Given the description of an element on the screen output the (x, y) to click on. 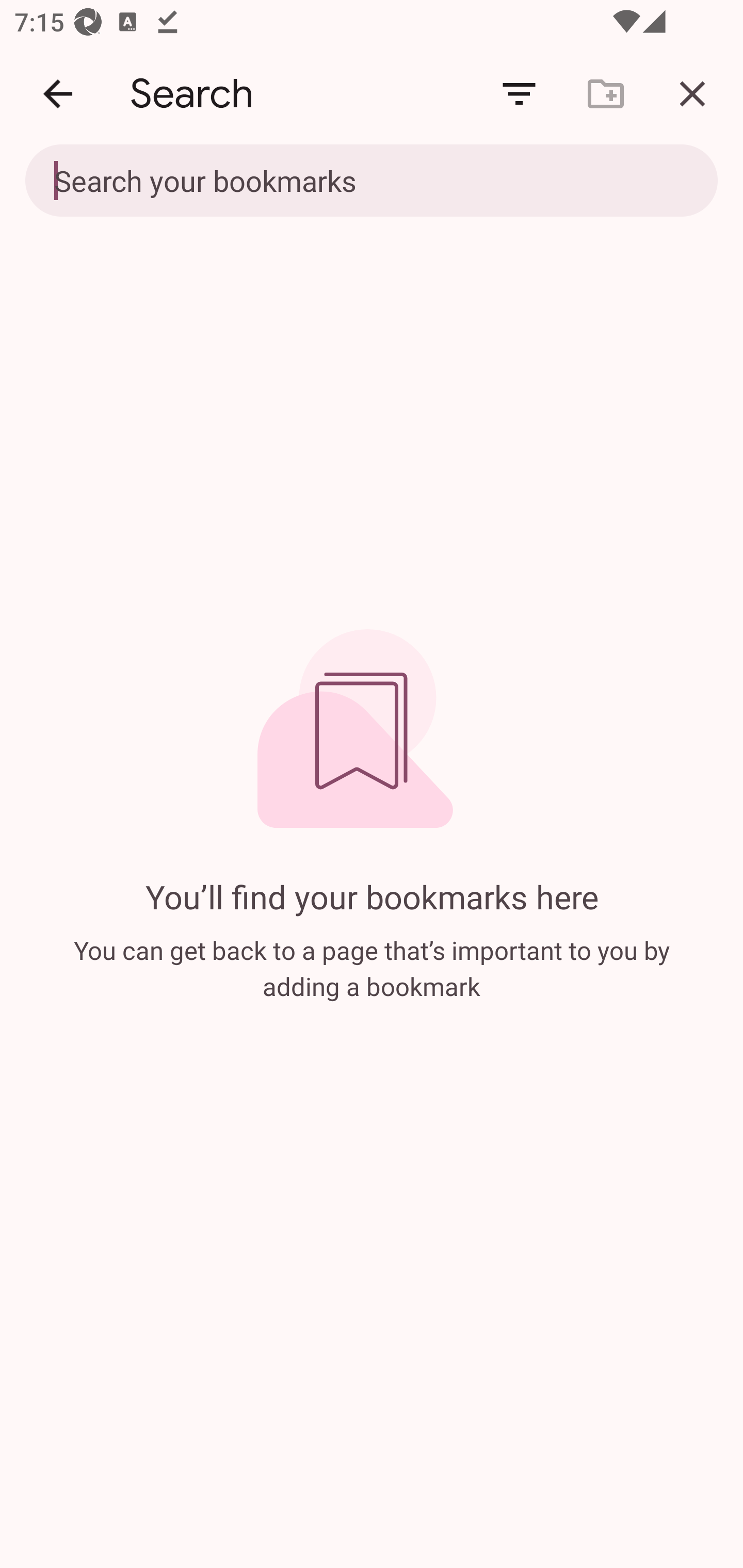
Go back (57, 93)
Sort and view options (518, 93)
Create new folder (605, 93)
Close dialog (692, 93)
Search your bookmarks (371, 181)
